Given the description of an element on the screen output the (x, y) to click on. 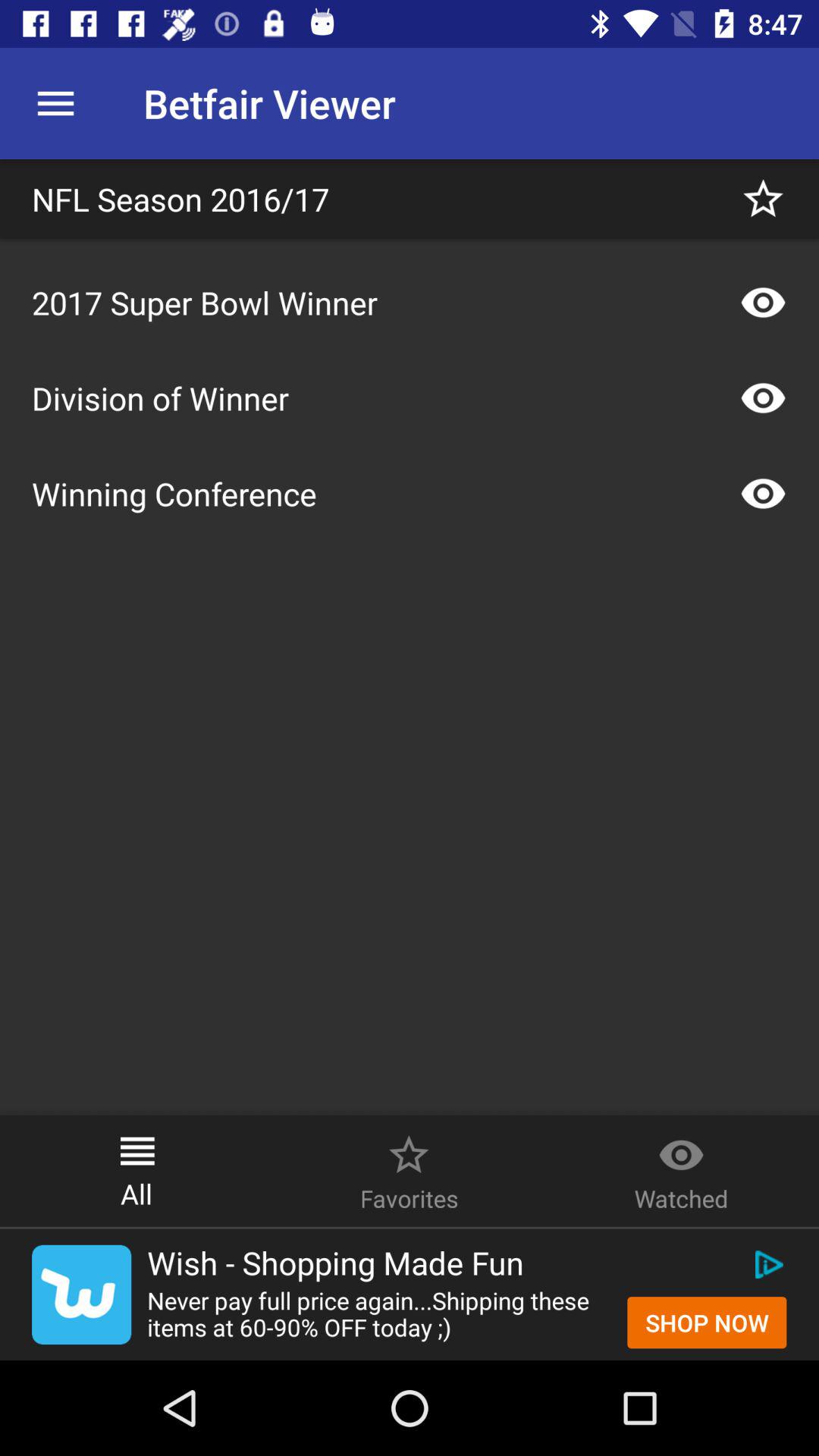
choose the item next to the shop now icon (379, 1314)
